Given the description of an element on the screen output the (x, y) to click on. 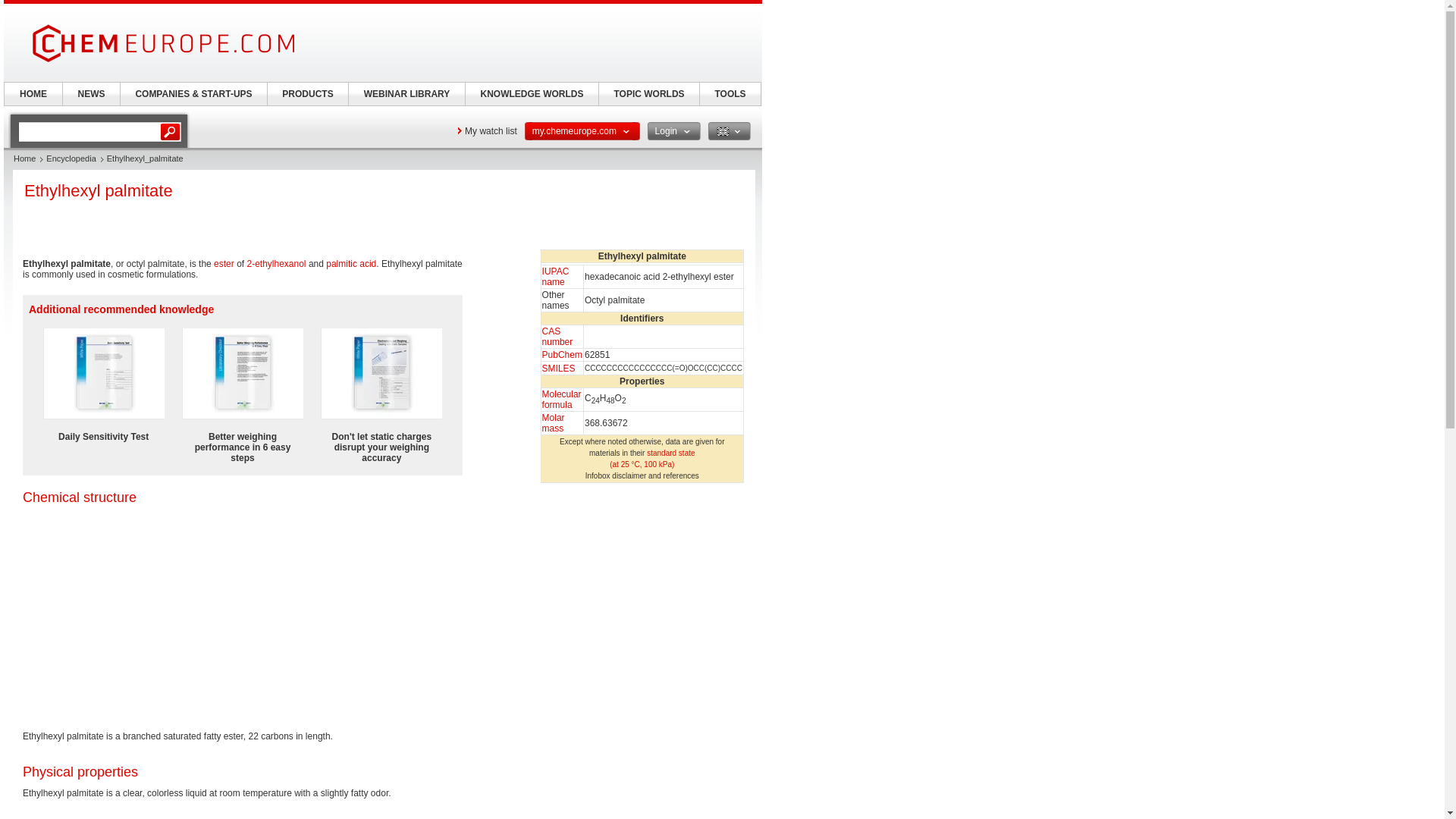
PubChem (561, 354)
2-ethylhexanol (275, 263)
Molar mass (552, 423)
Palmitic acid (350, 263)
Daily Sensitivity Test (103, 436)
ester (224, 263)
SMILES (558, 367)
CAS registry number (557, 336)
CAS number (557, 336)
palmitic acid (350, 263)
